Given the description of an element on the screen output the (x, y) to click on. 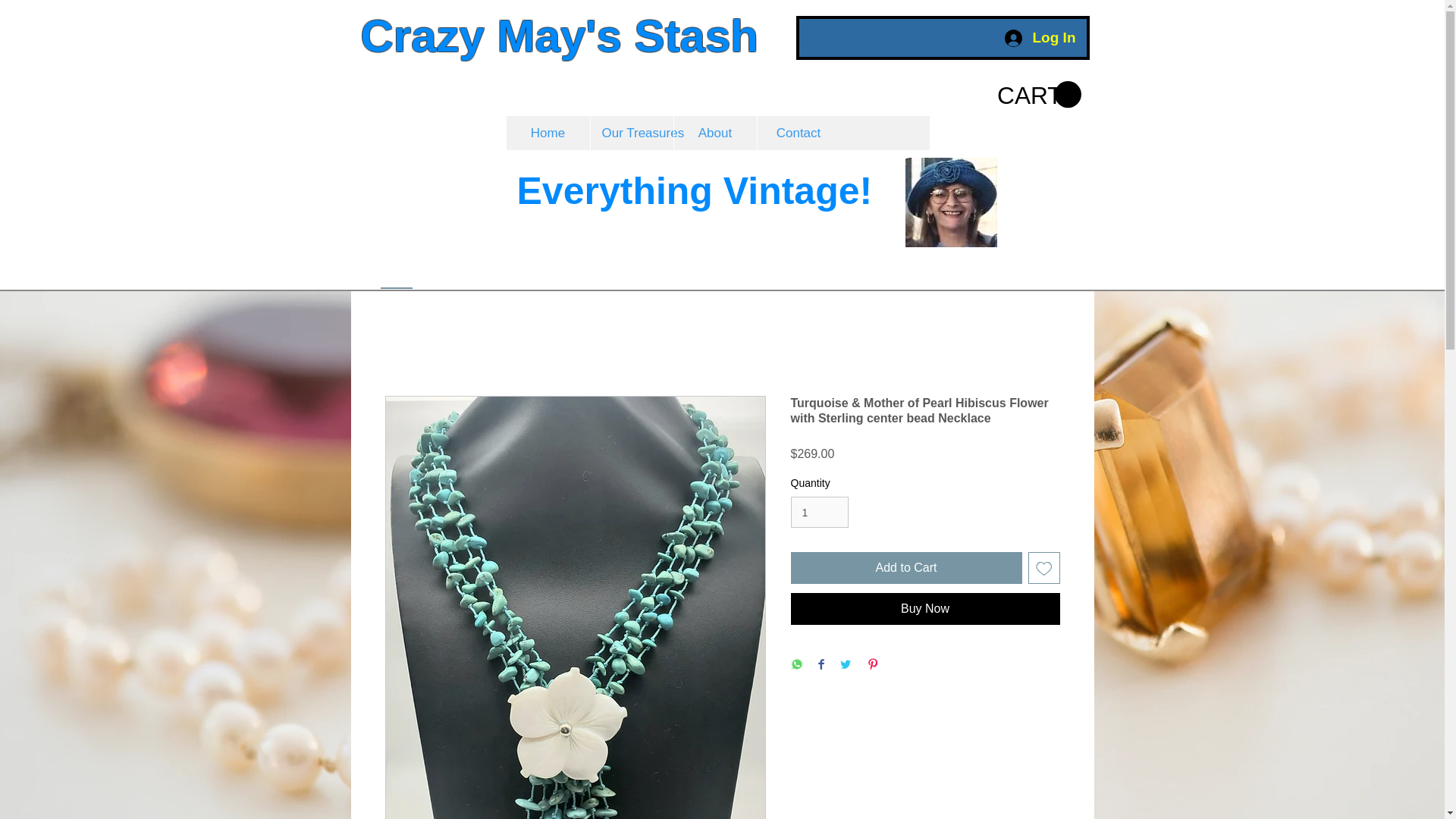
Home (547, 132)
Buy Now (924, 608)
Contact (798, 132)
Crazy May's Stash (559, 35)
About (714, 132)
CART (1037, 94)
CART (1037, 94)
Our Treasures (630, 132)
1 (818, 511)
Add to Cart (906, 567)
